Given the description of an element on the screen output the (x, y) to click on. 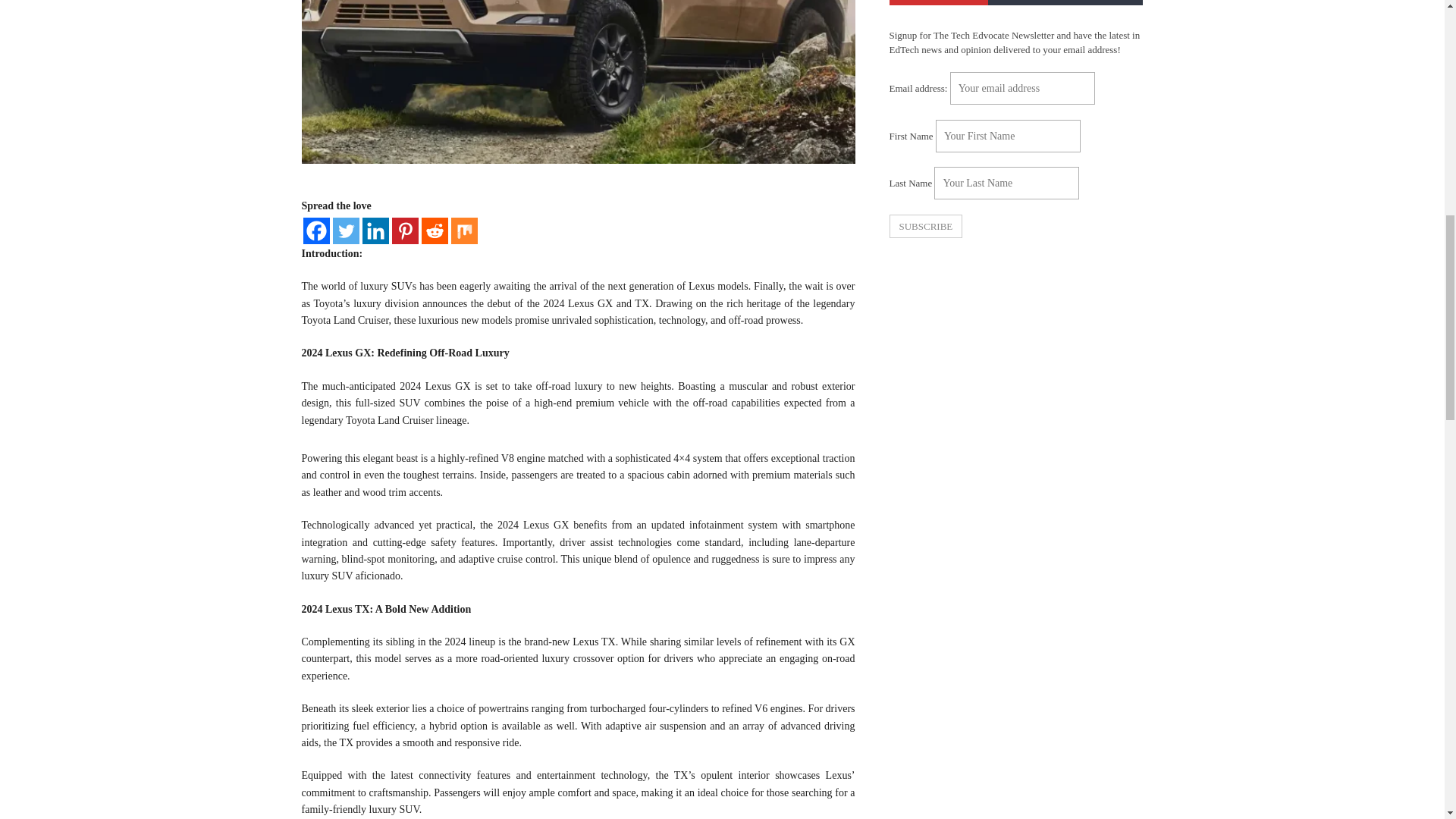
Twitter (344, 230)
Pinterest (404, 230)
Mix (463, 230)
Subscribe (925, 225)
Reddit (435, 230)
Linkedin (375, 230)
Facebook (316, 230)
